Given the description of an element on the screen output the (x, y) to click on. 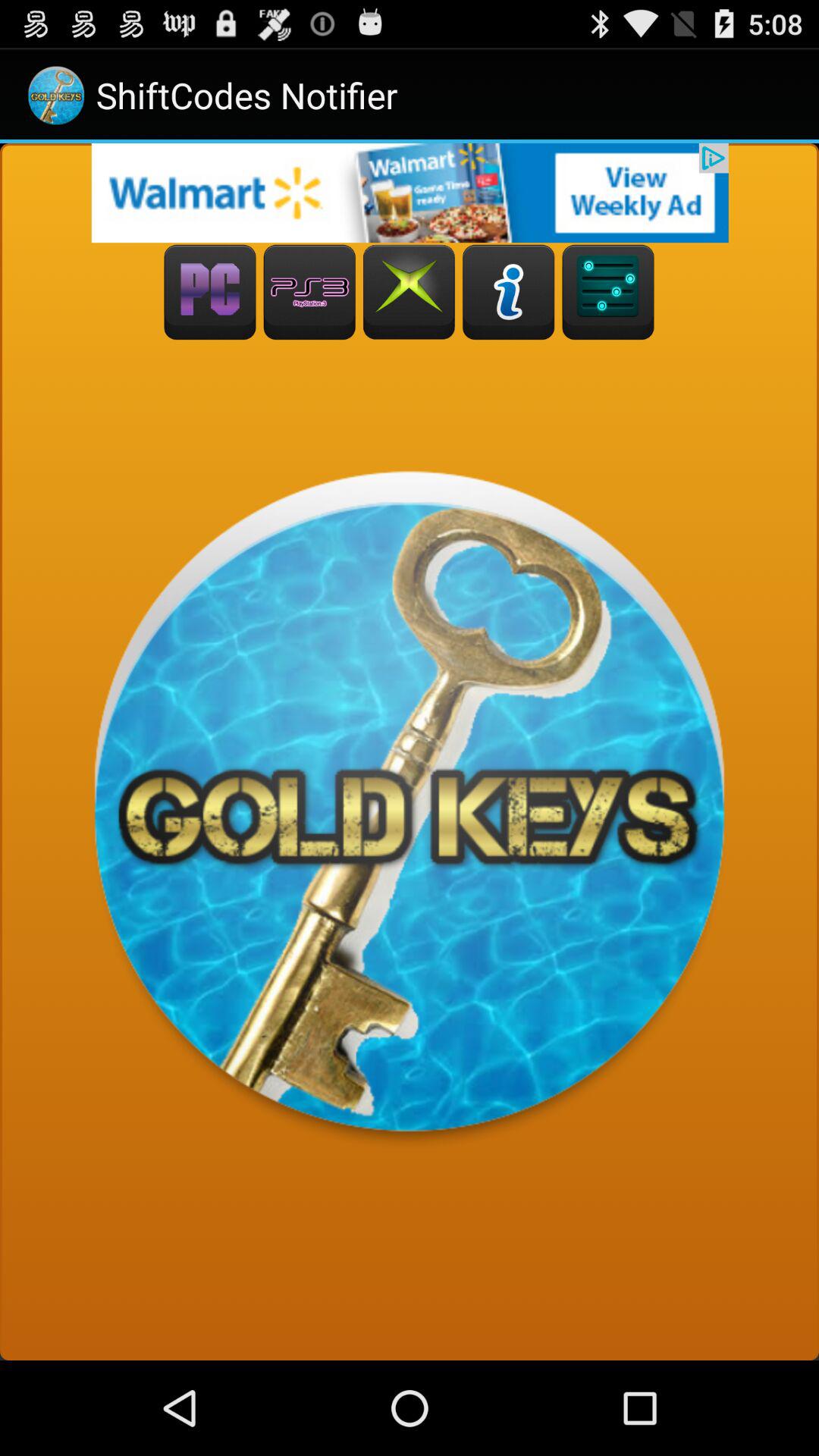
open settings (608, 292)
